Given the description of an element on the screen output the (x, y) to click on. 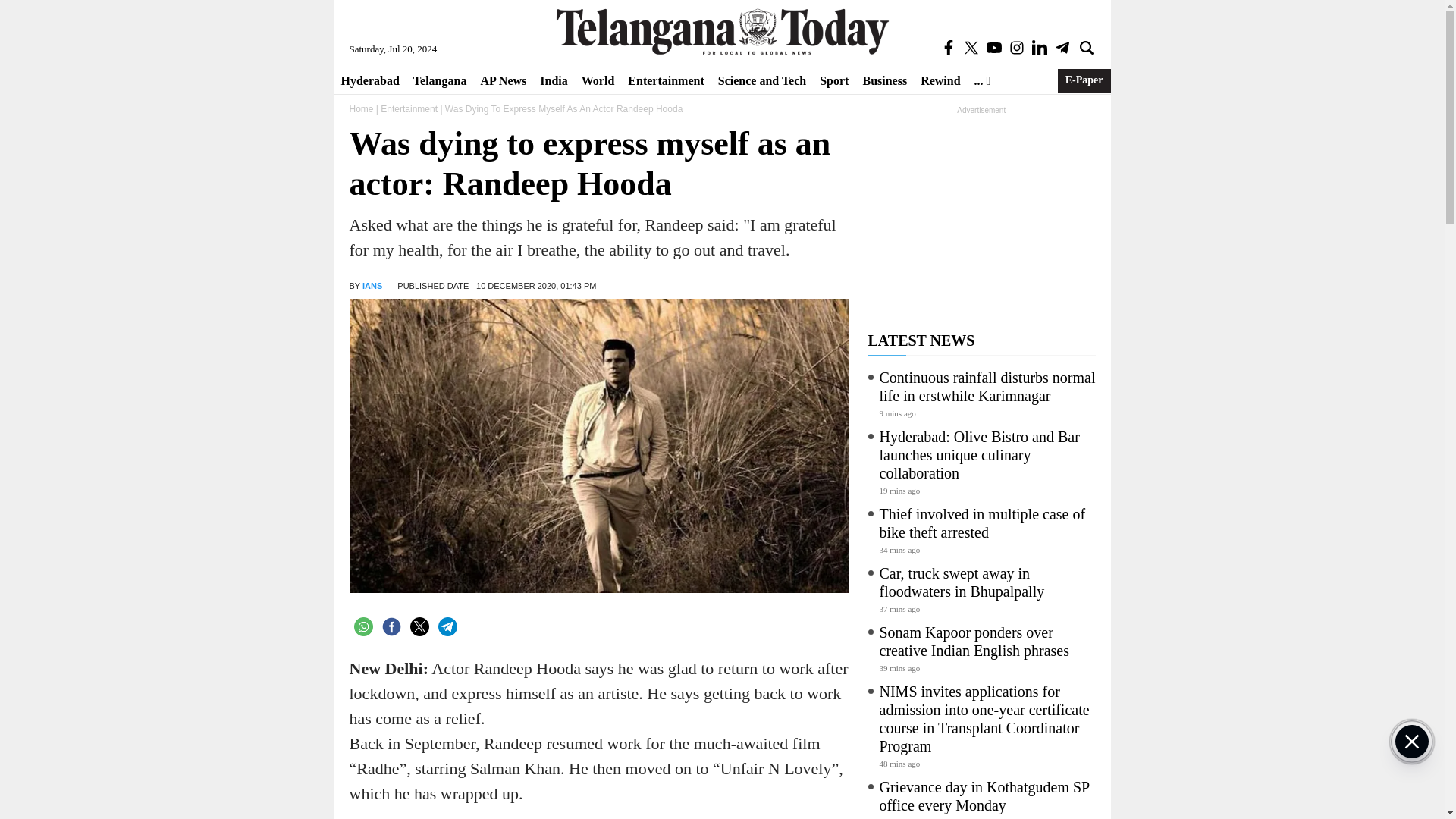
Entertainment (665, 80)
Entertainment (665, 80)
India (552, 80)
Rewind (940, 80)
Business (885, 80)
AP News (502, 80)
Home (360, 109)
English News (722, 31)
Science and Tech (761, 80)
Telangana (440, 80)
E-Paper (1084, 80)
AP News (502, 80)
World (598, 80)
Telangana (440, 80)
Business (885, 80)
